Given the description of an element on the screen output the (x, y) to click on. 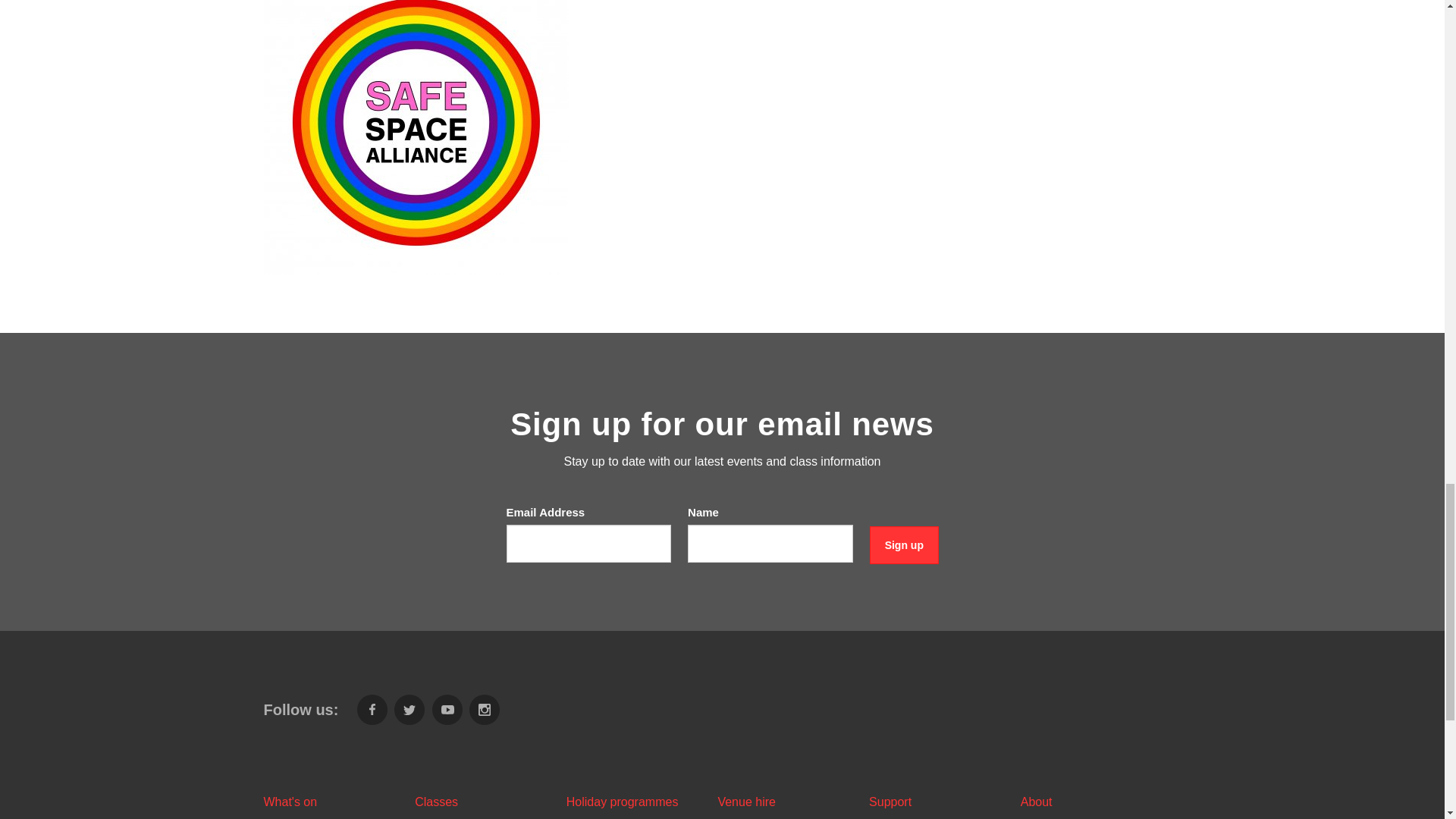
Learn with us on YouTube (447, 709)
Check us out on Instagram (483, 709)
Join us on Facebook (371, 709)
Sign up (904, 545)
Follow us on Twitter (409, 709)
